Given the description of an element on the screen output the (x, y) to click on. 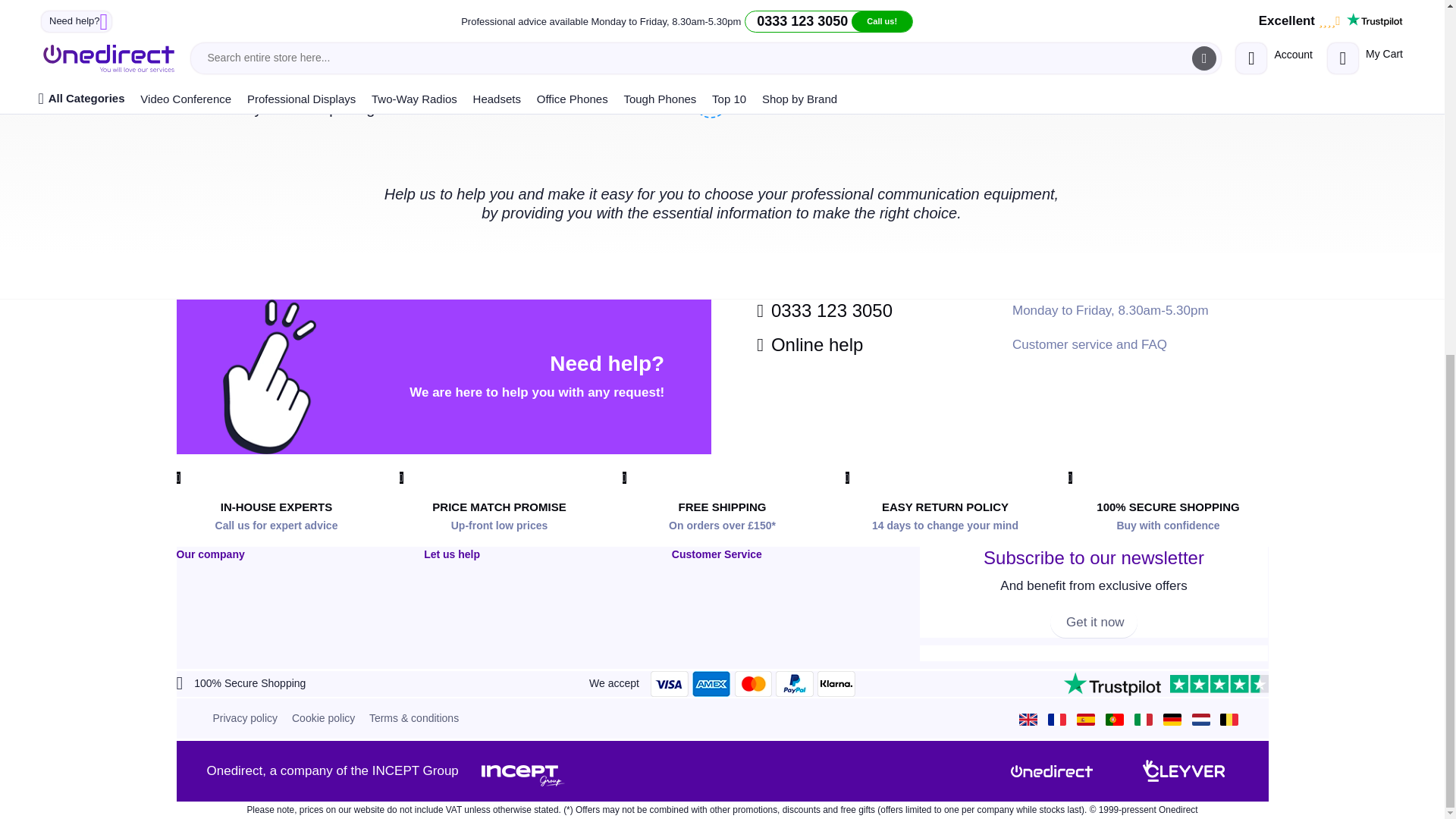
onedirect it (1147, 717)
Onedirect (1051, 770)
onedirect es (1089, 717)
onedirect pt (1118, 717)
INCEPT Group (522, 770)
onedirect nl (1204, 717)
onedirect fr (1061, 717)
Cleyver (1183, 770)
onedirect be (1233, 717)
onedirect de (1176, 717)
Truspilot Excellent (1165, 683)
